Given the description of an element on the screen output the (x, y) to click on. 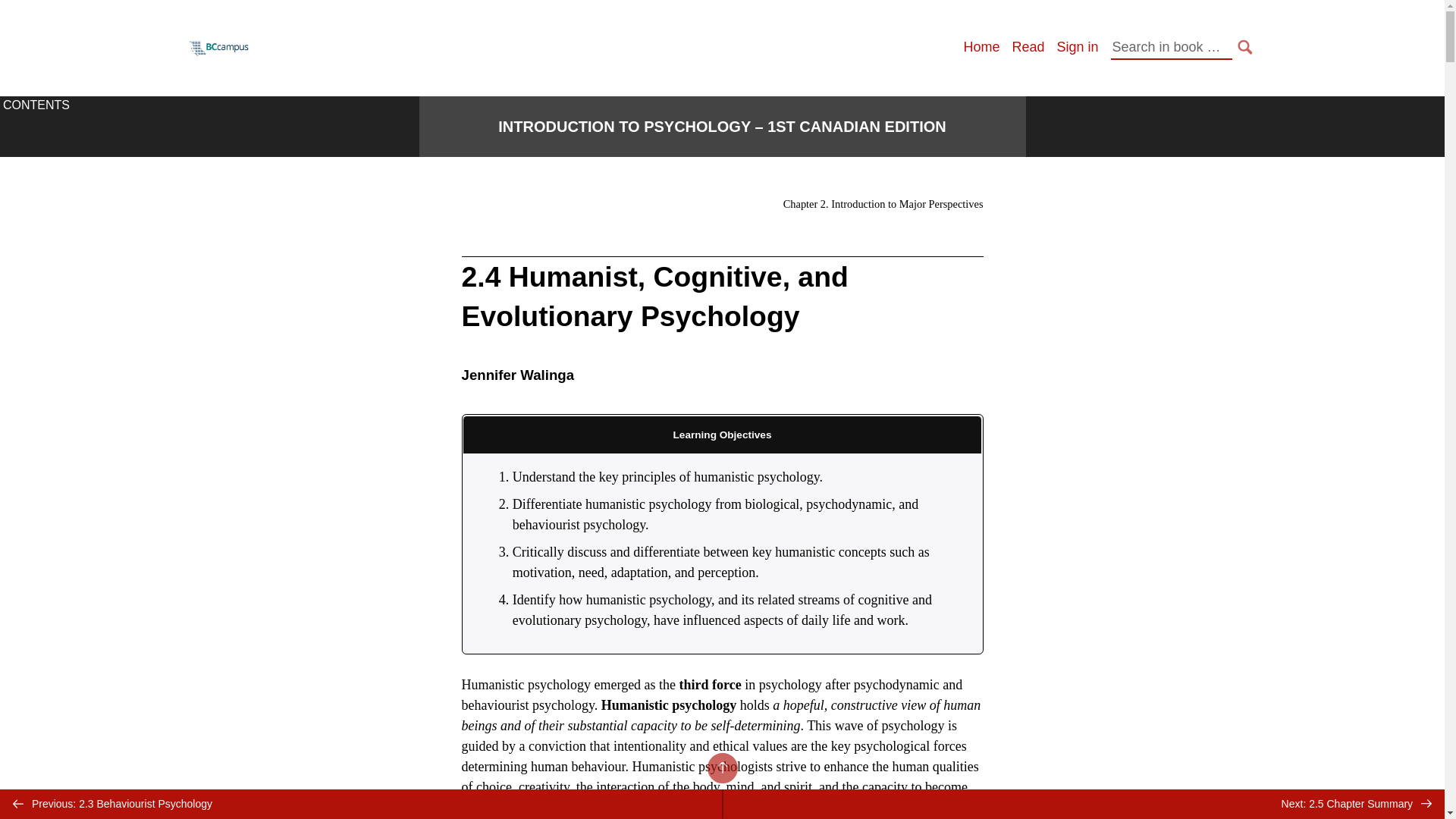
BACK TO TOP (721, 767)
Read (1027, 46)
Previous: 2.3 Behaviourist Psychology (361, 804)
Home (980, 46)
Previous: 2.3 Behaviourist Psychology (361, 804)
Sign in (1077, 46)
